Given the description of an element on the screen output the (x, y) to click on. 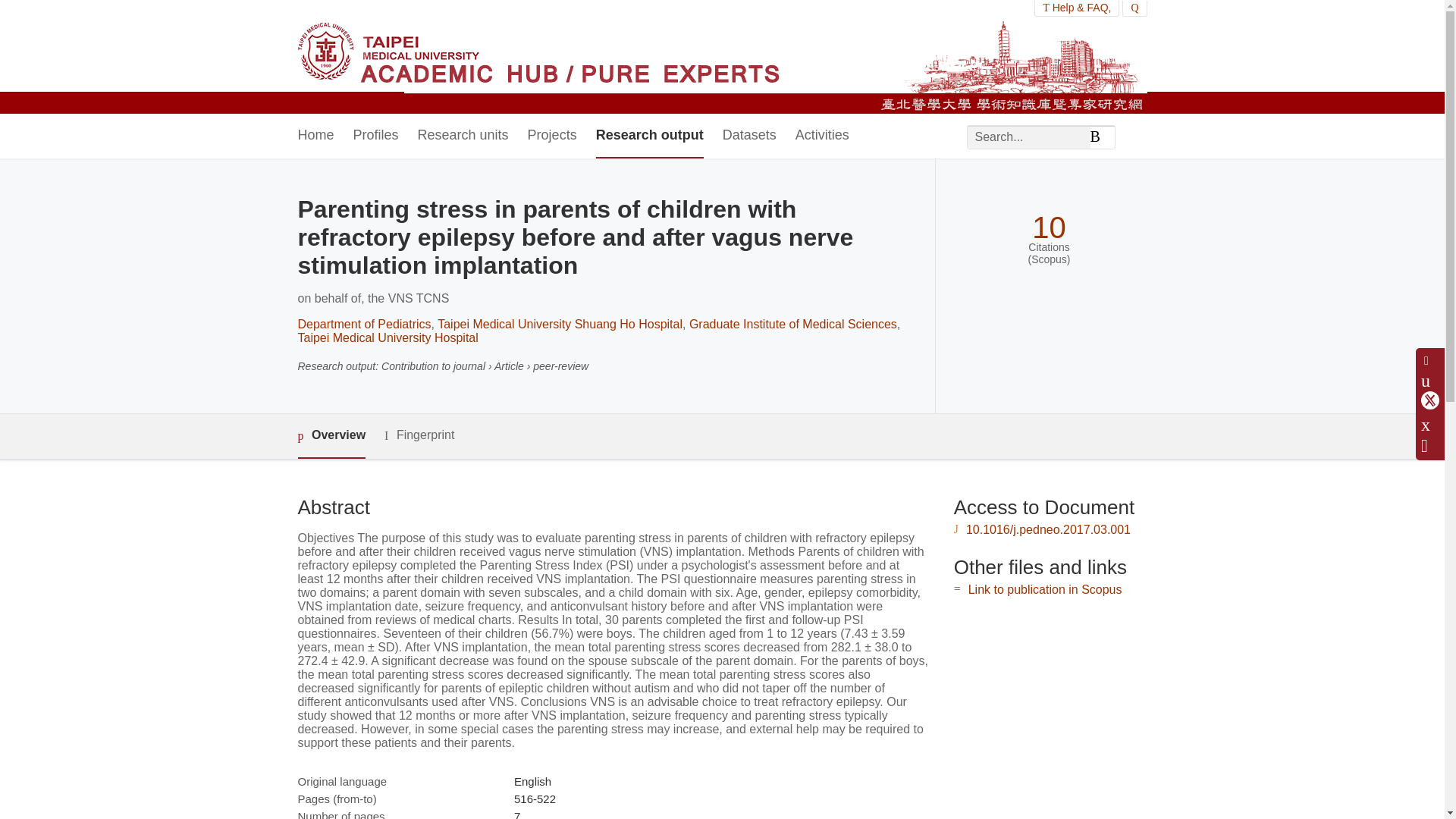
Fingerprint (419, 435)
Taipei Medical University Home (537, 56)
Research output (649, 135)
Activities (821, 135)
Profiles (375, 135)
Graduate Institute of Medical Sciences (792, 323)
Taipei Medical University Hospital (387, 337)
Taipei Medical University Shuang Ho Hospital (560, 323)
Department of Pediatrics (363, 323)
